Given the description of an element on the screen output the (x, y) to click on. 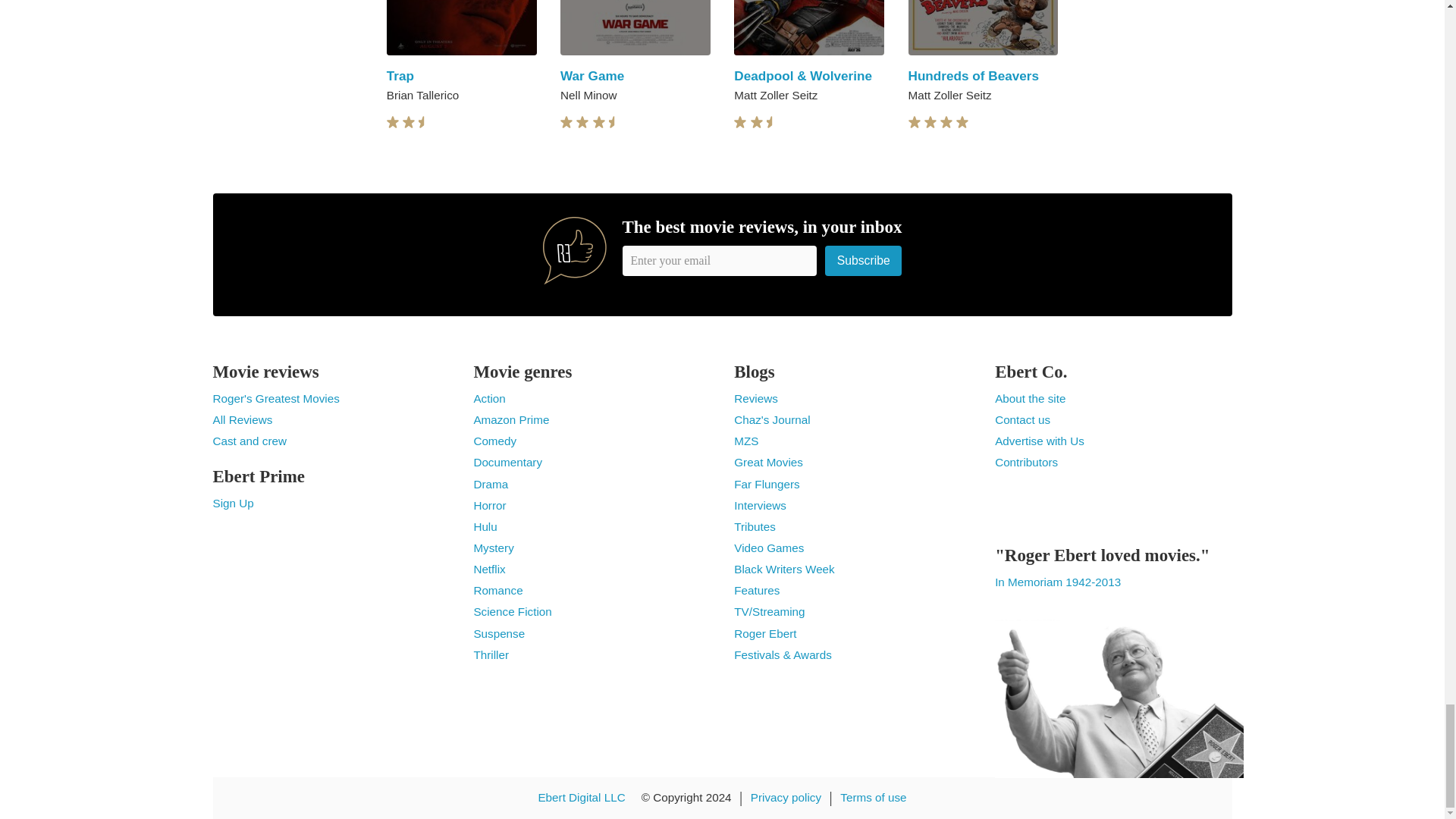
Subscribe (863, 260)
